Given the description of an element on the screen output the (x, y) to click on. 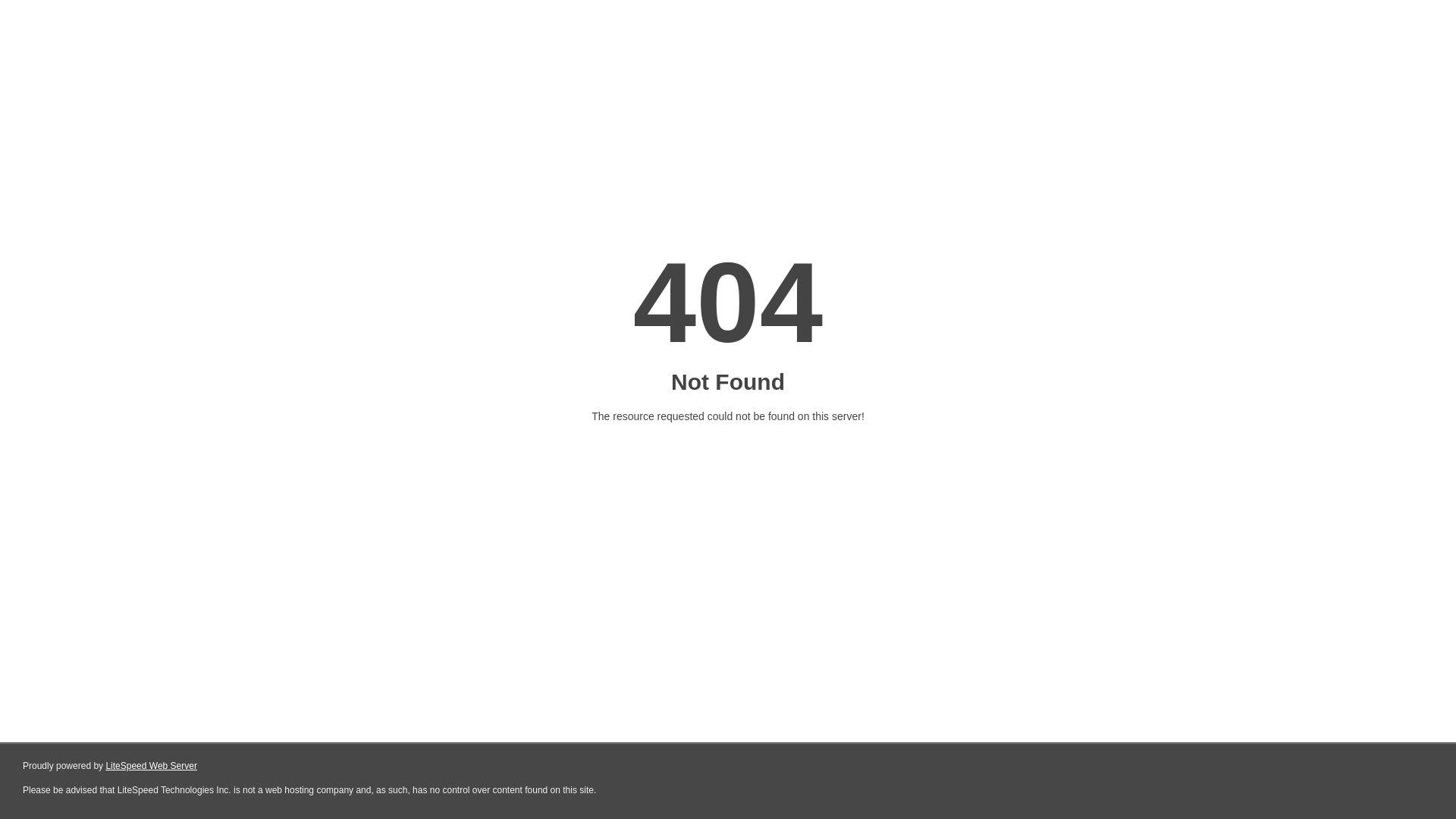
LiteSpeed Web Server Element type: text (151, 765)
